Given the description of an element on the screen output the (x, y) to click on. 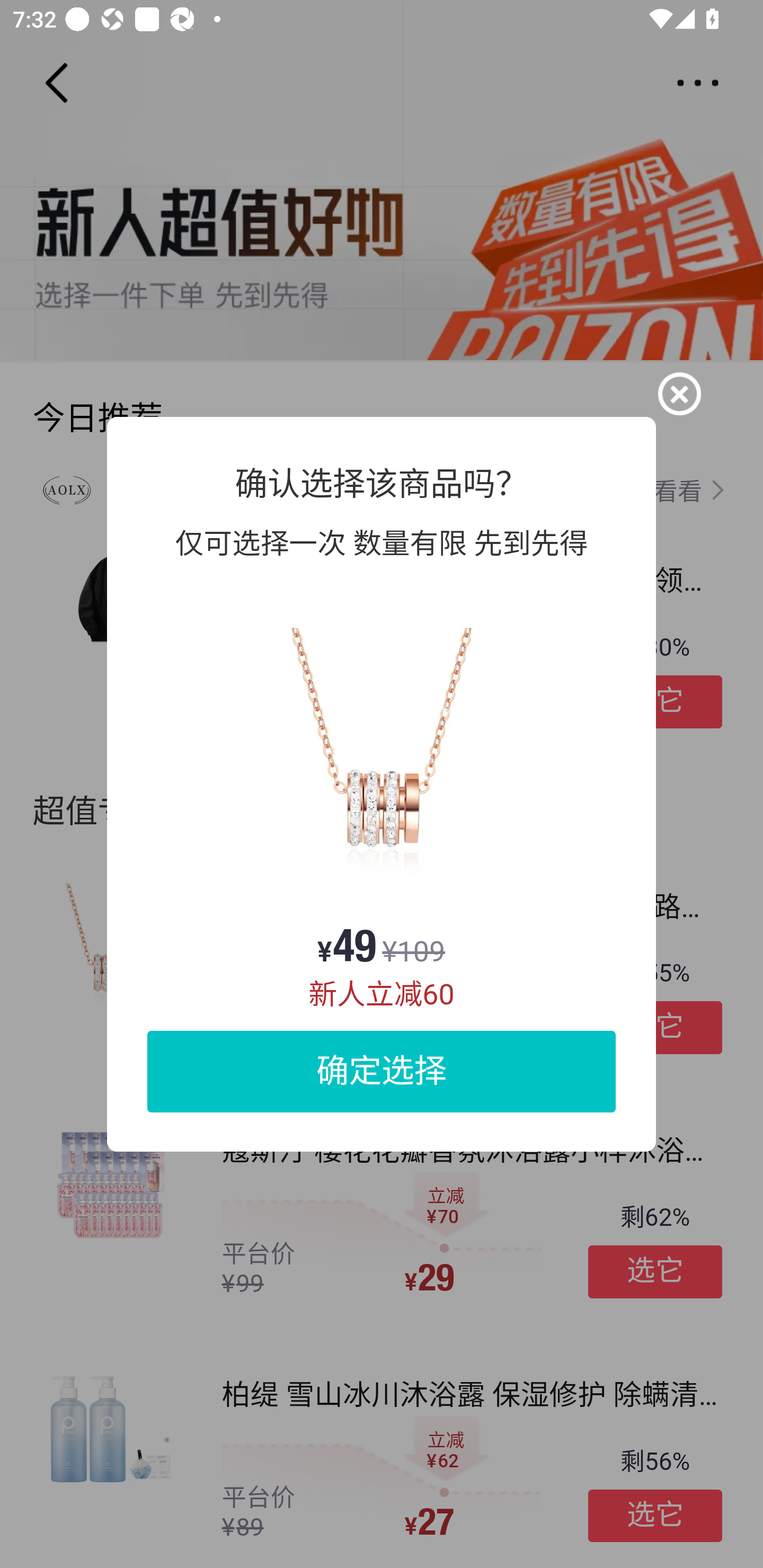
确定选择 (381, 1070)
